Given the description of an element on the screen output the (x, y) to click on. 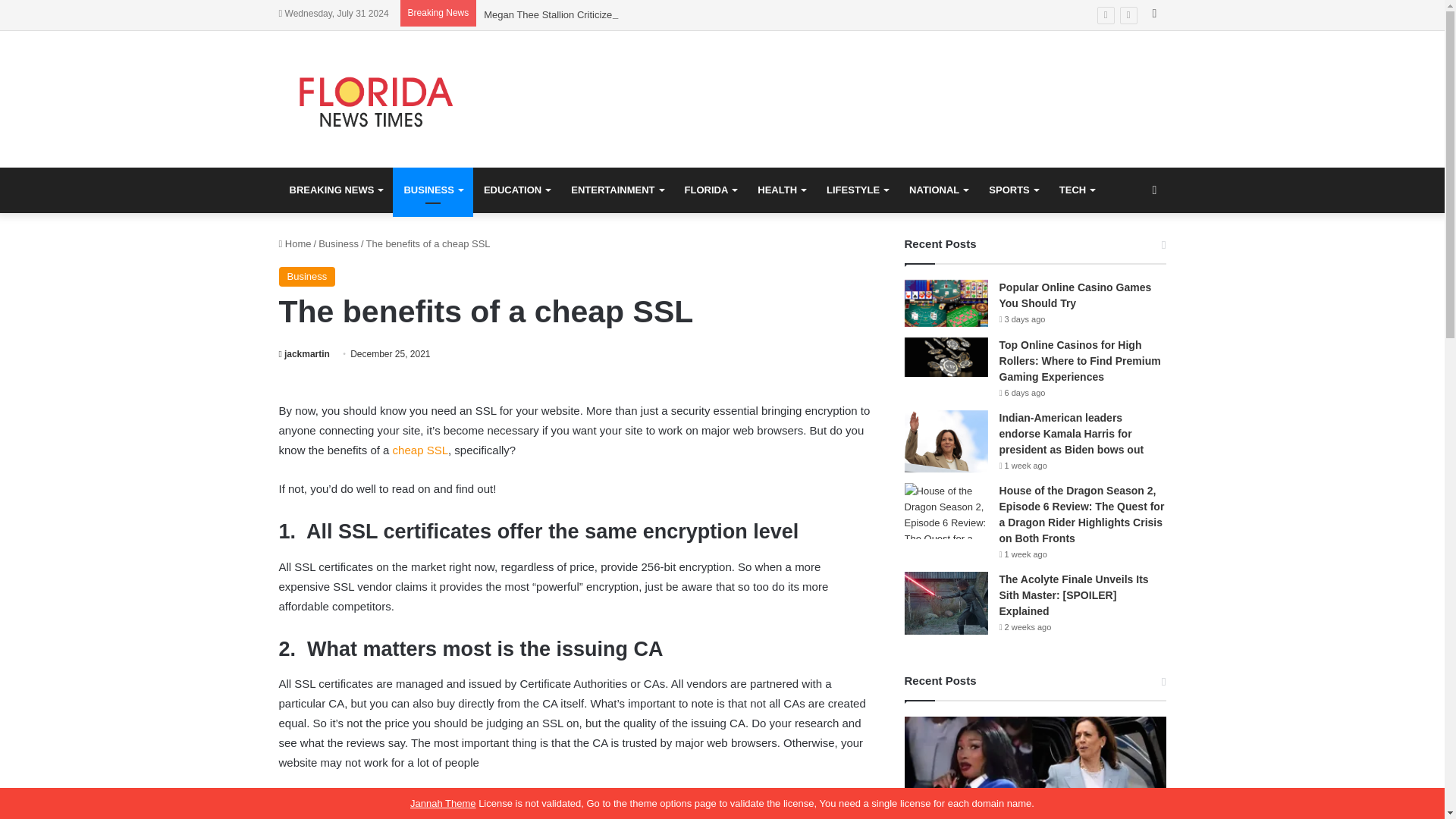
ENTERTAINMENT (616, 189)
cheap SSL (420, 449)
Floridanewstimes.com (377, 99)
NATIONAL (938, 189)
FLORIDA (709, 189)
HEALTH (780, 189)
Home (295, 243)
BREAKING NEWS (336, 189)
LIFESTYLE (856, 189)
TECH (1076, 189)
EDUCATION (516, 189)
Business (338, 243)
jackmartin (304, 353)
jackmartin (304, 353)
Business (307, 276)
